Given the description of an element on the screen output the (x, y) to click on. 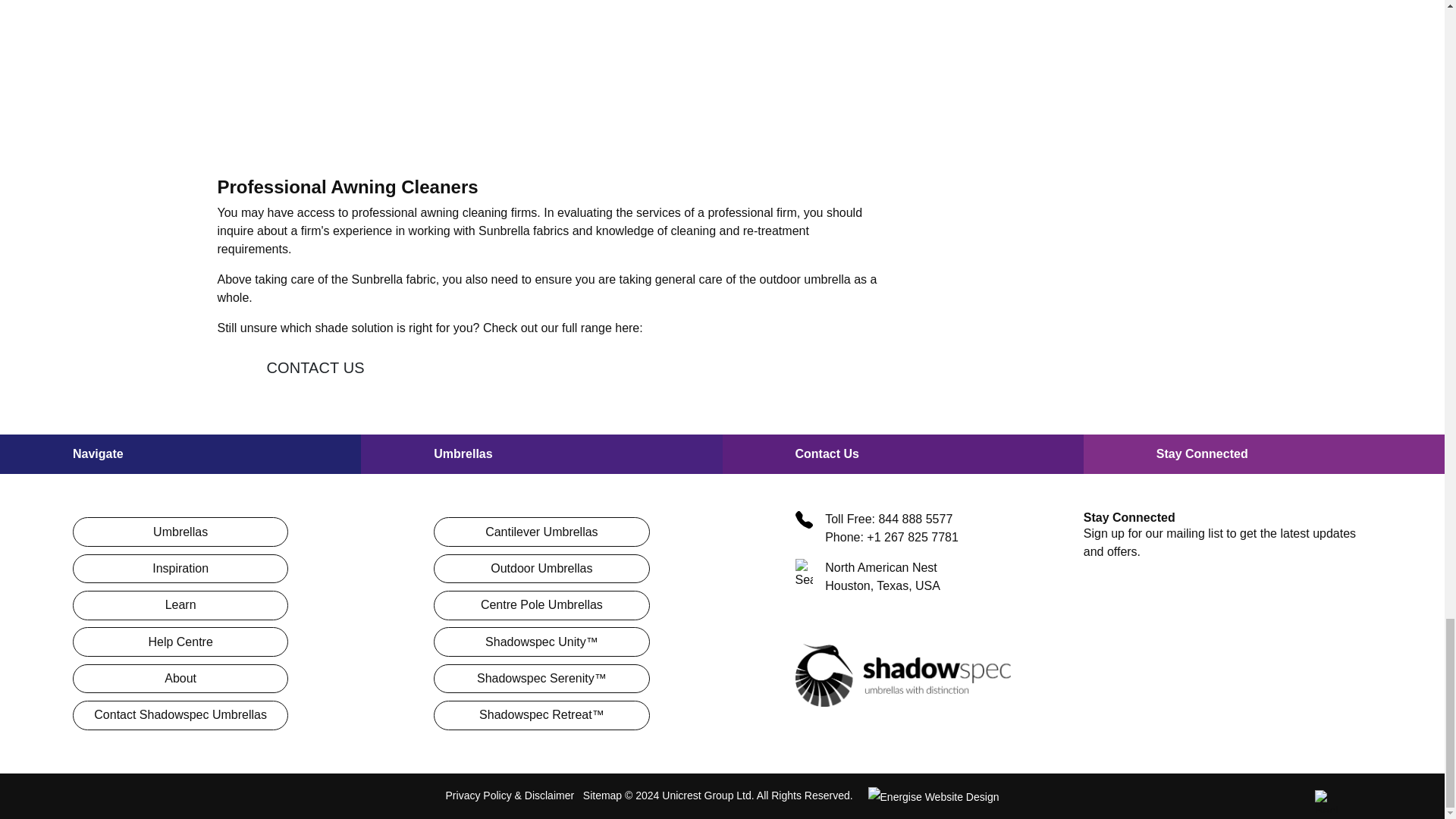
Instagram (1181, 601)
LinkedIn (1227, 601)
Facebook (1136, 601)
Phone (803, 520)
Shadowspec Umbrellas (902, 674)
